Given the description of an element on the screen output the (x, y) to click on. 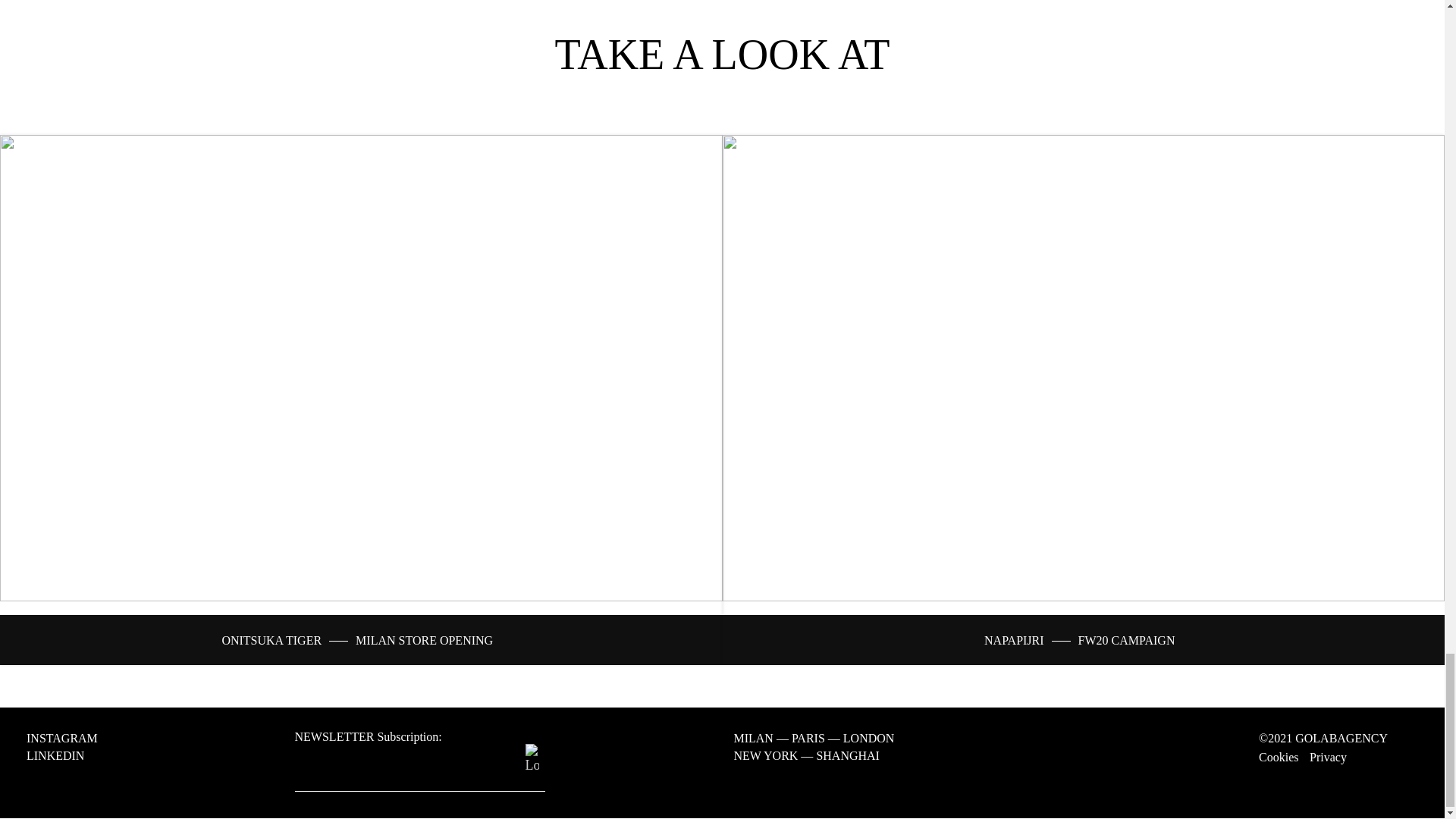
privacy (1327, 757)
linkedin (61, 755)
cookie policy (1278, 757)
NAPAPIJRI FW20 CAMPAIGN (1079, 640)
ONITSUKA TIGER MILAN STORE OPENING (357, 640)
instagram (69, 738)
